Given the description of an element on the screen output the (x, y) to click on. 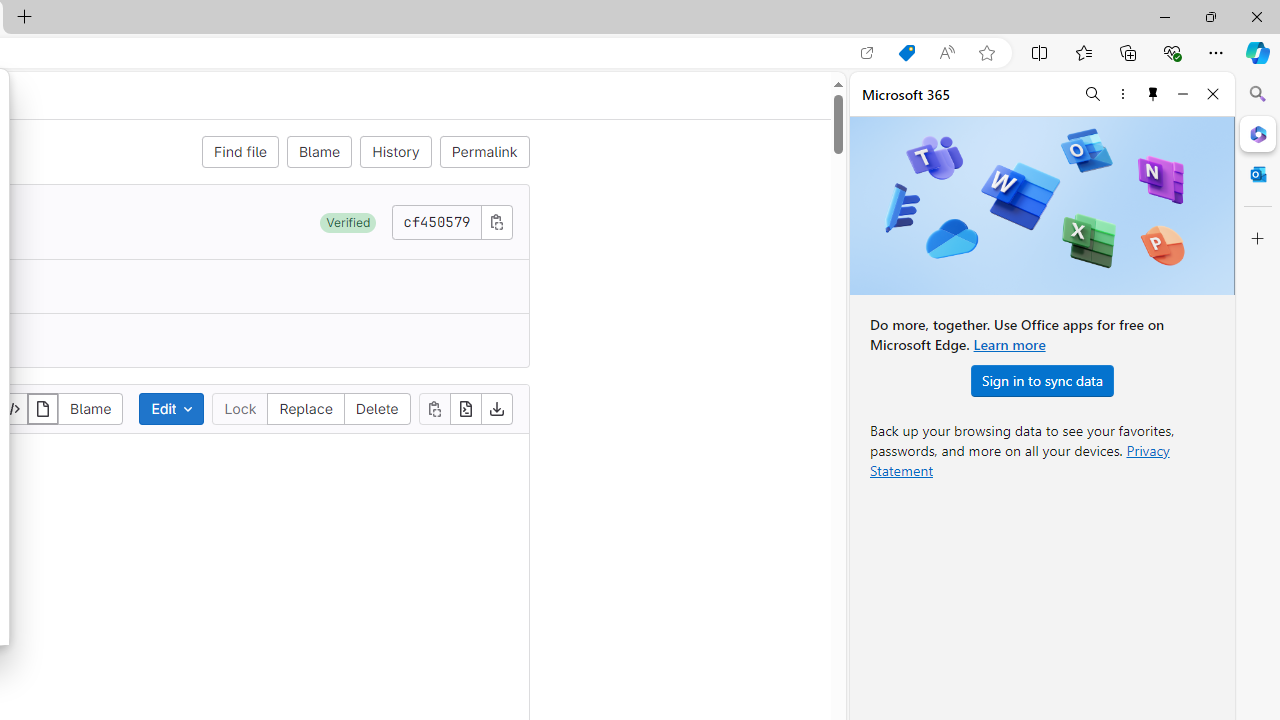
Copy file contents (434, 408)
Open in app (867, 53)
Copy commit SHA (496, 221)
